Given the description of an element on the screen output the (x, y) to click on. 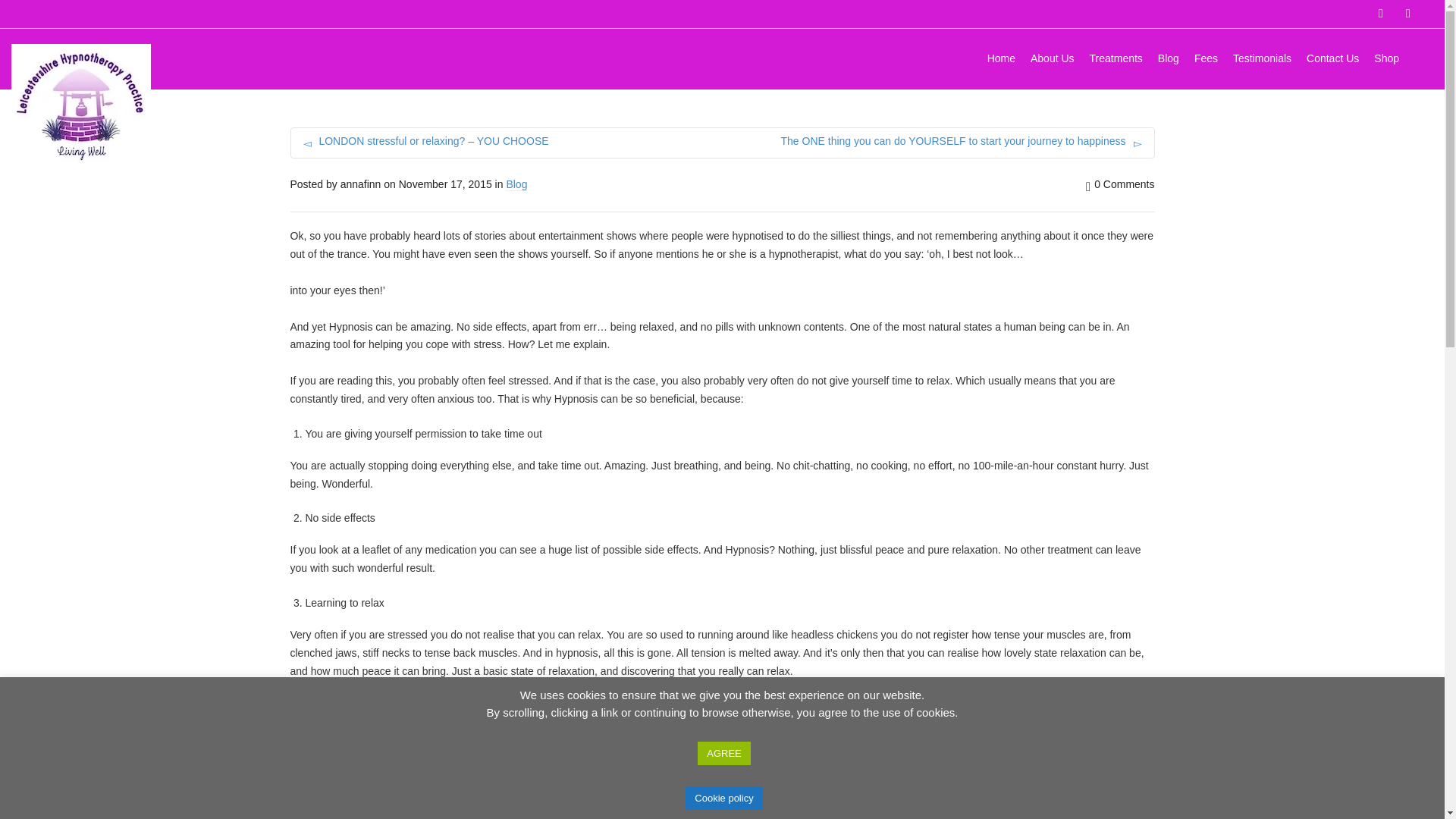
Treatments (1115, 60)
Hypnotherapy Treatments (1115, 60)
About Us (1052, 60)
